Given the description of an element on the screen output the (x, y) to click on. 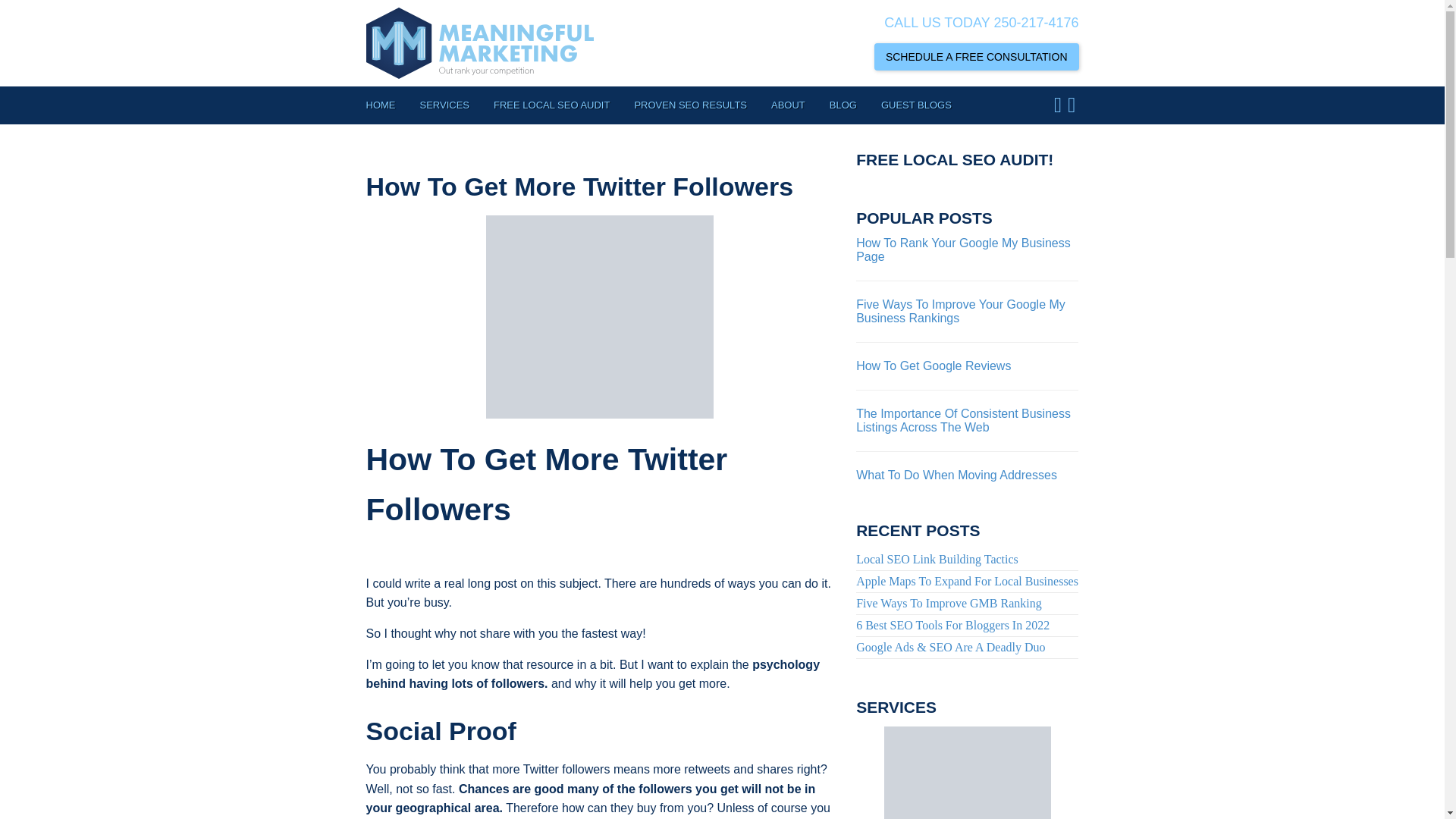
Apple Maps To Expand For Local Businesses (967, 581)
GUEST BLOGS (916, 105)
Local SEO Link Building Tactics (967, 559)
What To Do When Moving Addresses (956, 474)
HOME (386, 105)
How To Get Google Reviews (933, 365)
BLOG (842, 105)
Five Ways To Improve Your Google My Business Rankings (960, 311)
ABOUT (787, 105)
SERVICES (444, 105)
